Given the description of an element on the screen output the (x, y) to click on. 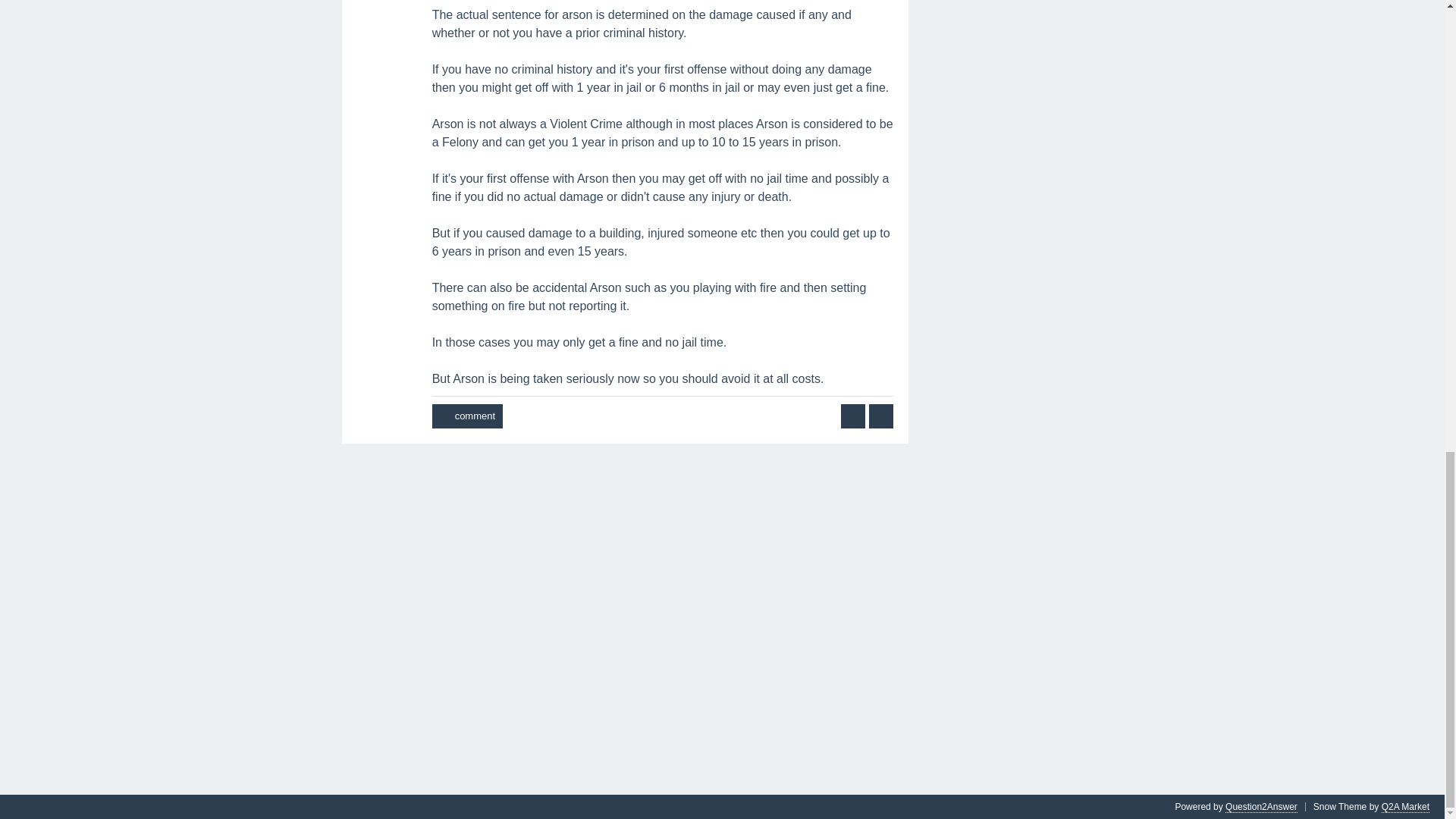
comment (467, 416)
comment (467, 416)
Add a comment on this answer (467, 416)
flag (881, 416)
ask related question (852, 416)
flag (881, 416)
Flag this answer as spam or inappropriate (881, 416)
ask related question (852, 416)
Ask a new question relating to this answer (852, 416)
